Given the description of an element on the screen output the (x, y) to click on. 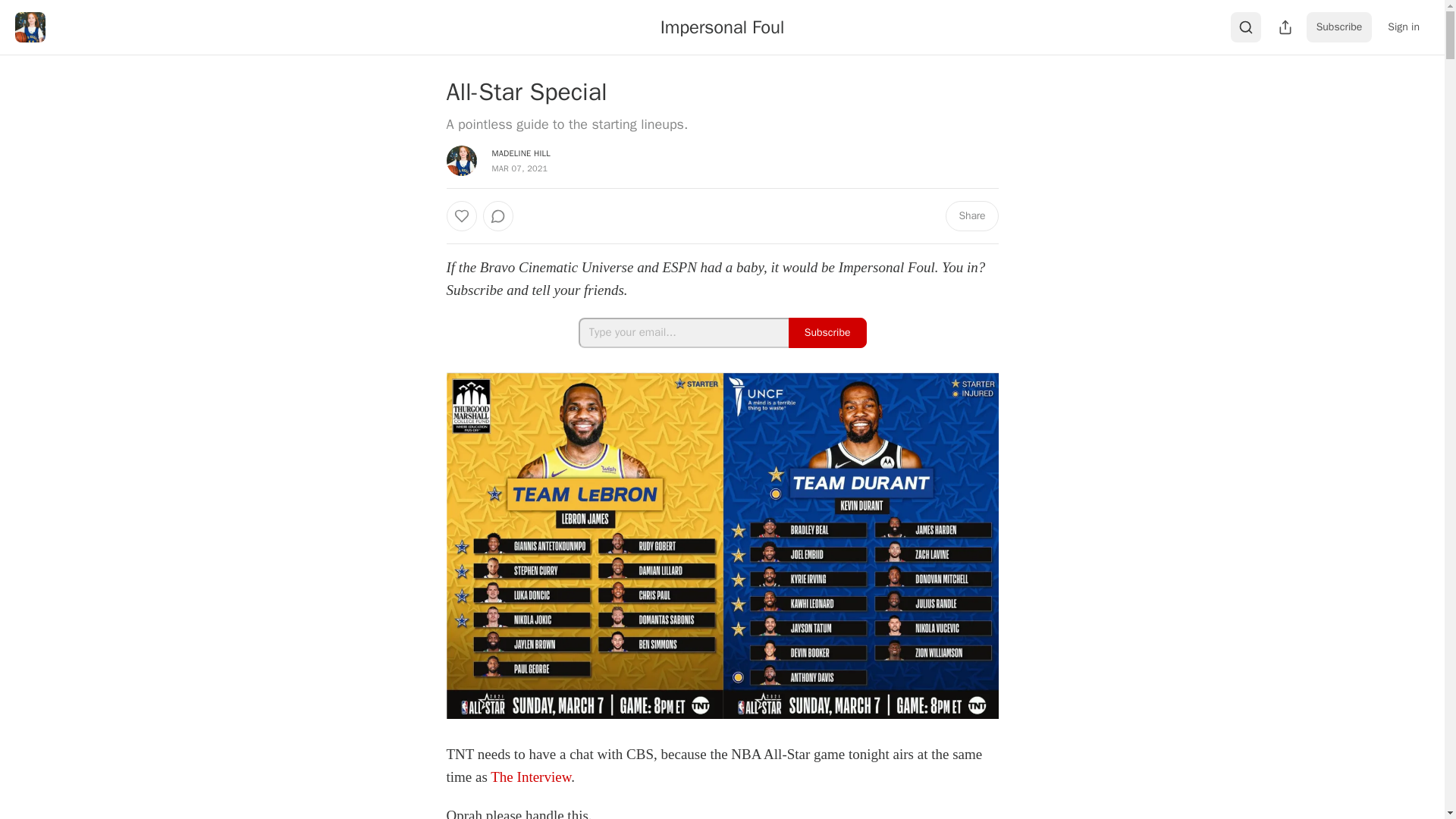
MADELINE HILL (521, 153)
Subscribe (827, 332)
Subscribe (1339, 27)
Impersonal Foul (722, 26)
Sign in (1403, 27)
Share (970, 215)
The Interview (530, 776)
